Given the description of an element on the screen output the (x, y) to click on. 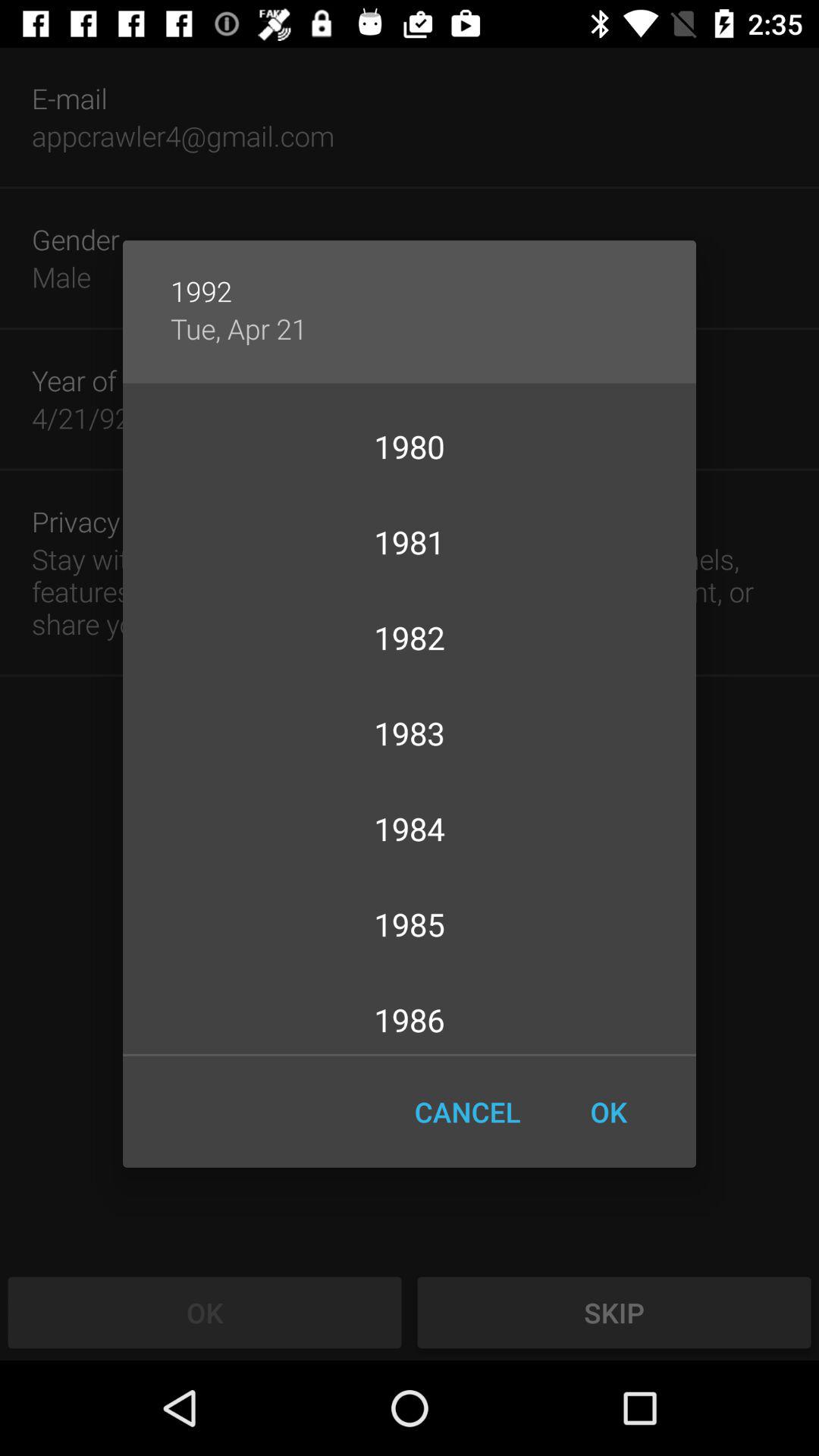
swipe to ok icon (608, 1111)
